Given the description of an element on the screen output the (x, y) to click on. 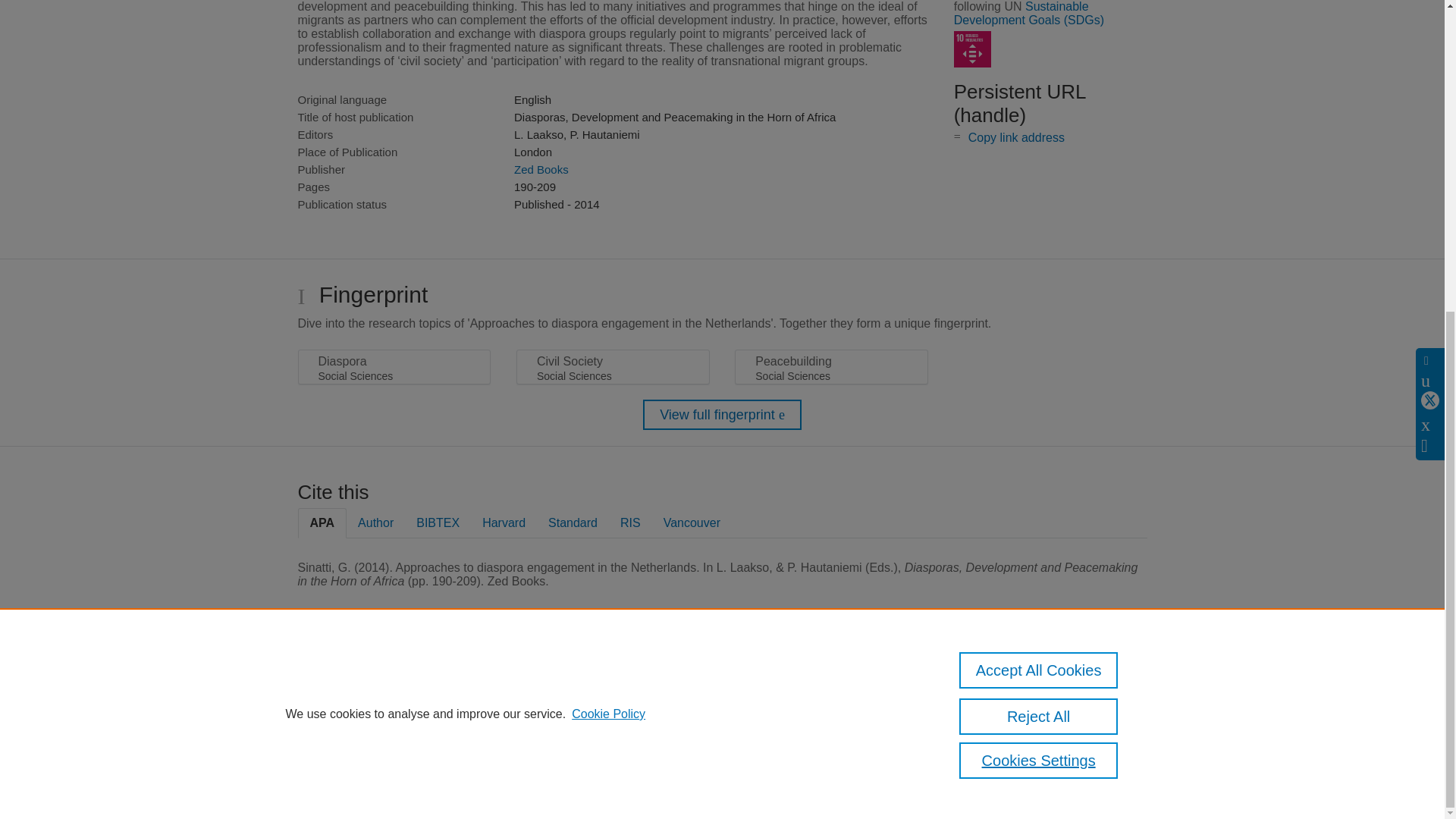
Elsevier B.V. (506, 707)
SDG 10 - Reduced Inequalities (972, 49)
Copy link address (1016, 137)
Log in to Pure (327, 781)
Scopus (394, 686)
Zed Books (541, 169)
use of cookies (796, 739)
Cookies Settings (334, 760)
Vrije Universiteit Amsterdam data protection policy (1072, 692)
Pure (362, 686)
View full fingerprint (722, 414)
